Given the description of an element on the screen output the (x, y) to click on. 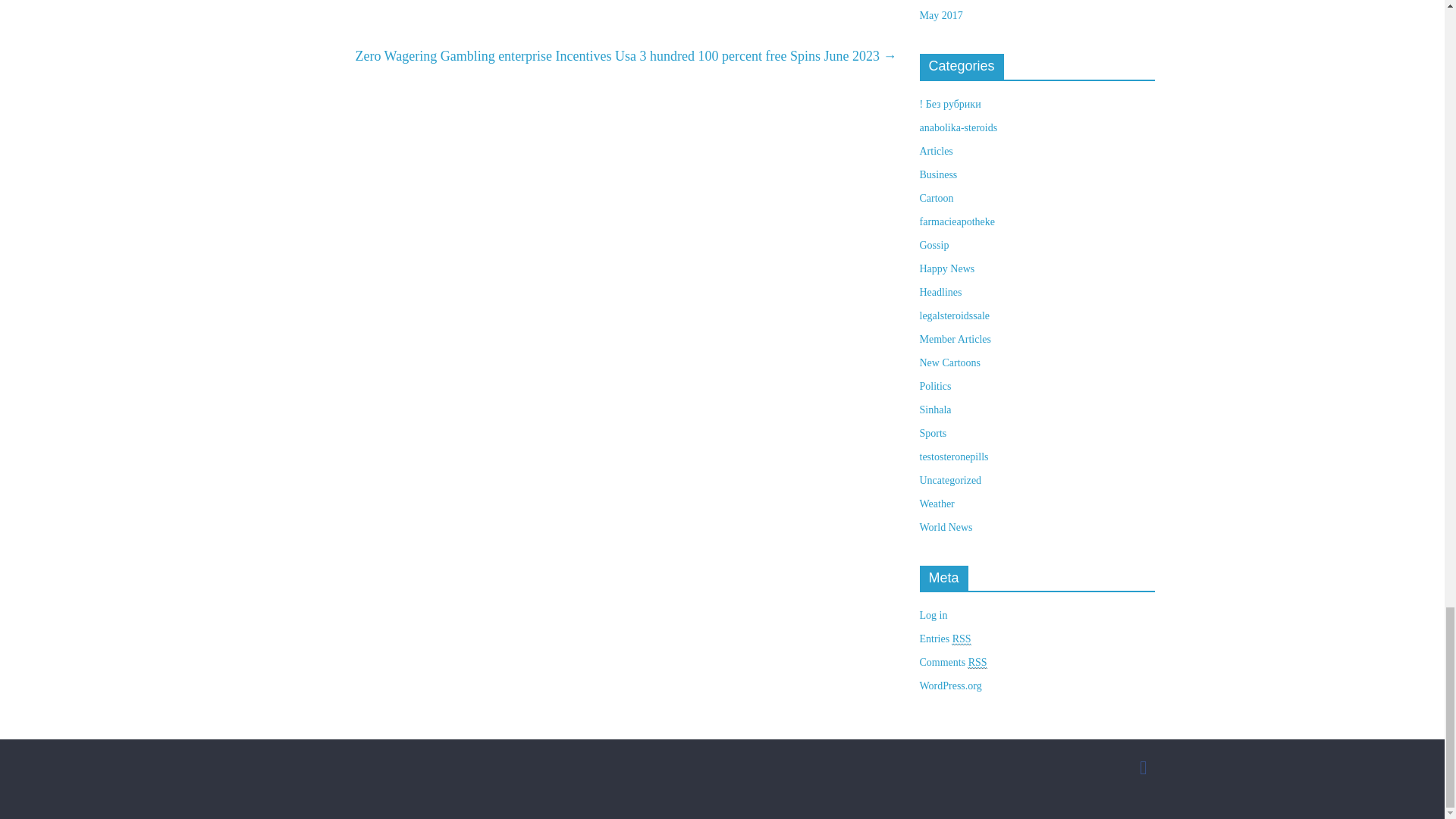
Really Simple Syndication (961, 639)
Really Simple Syndication (977, 662)
